Given the description of an element on the screen output the (x, y) to click on. 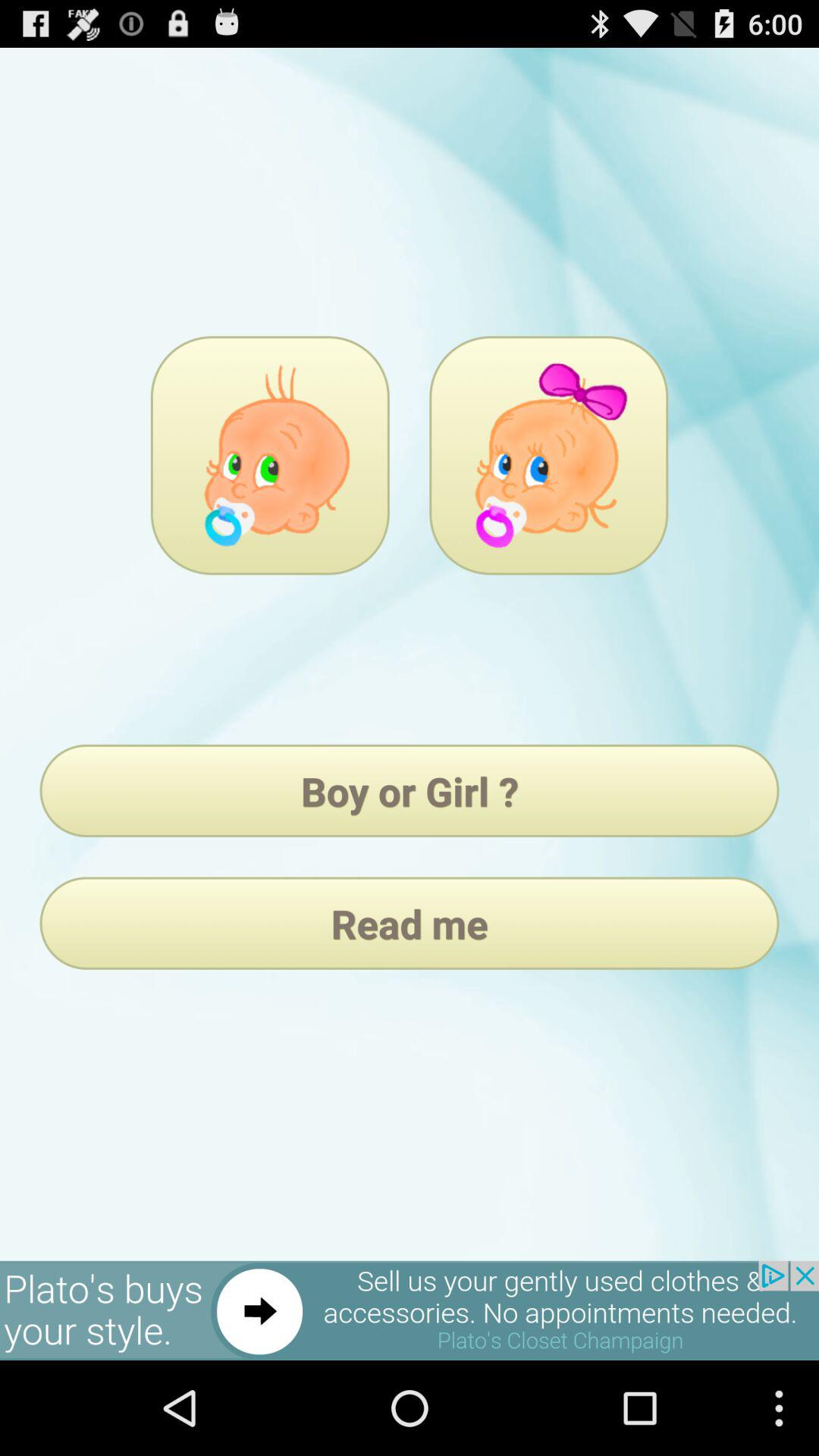
advertiser banner (409, 1310)
